Given the description of an element on the screen output the (x, y) to click on. 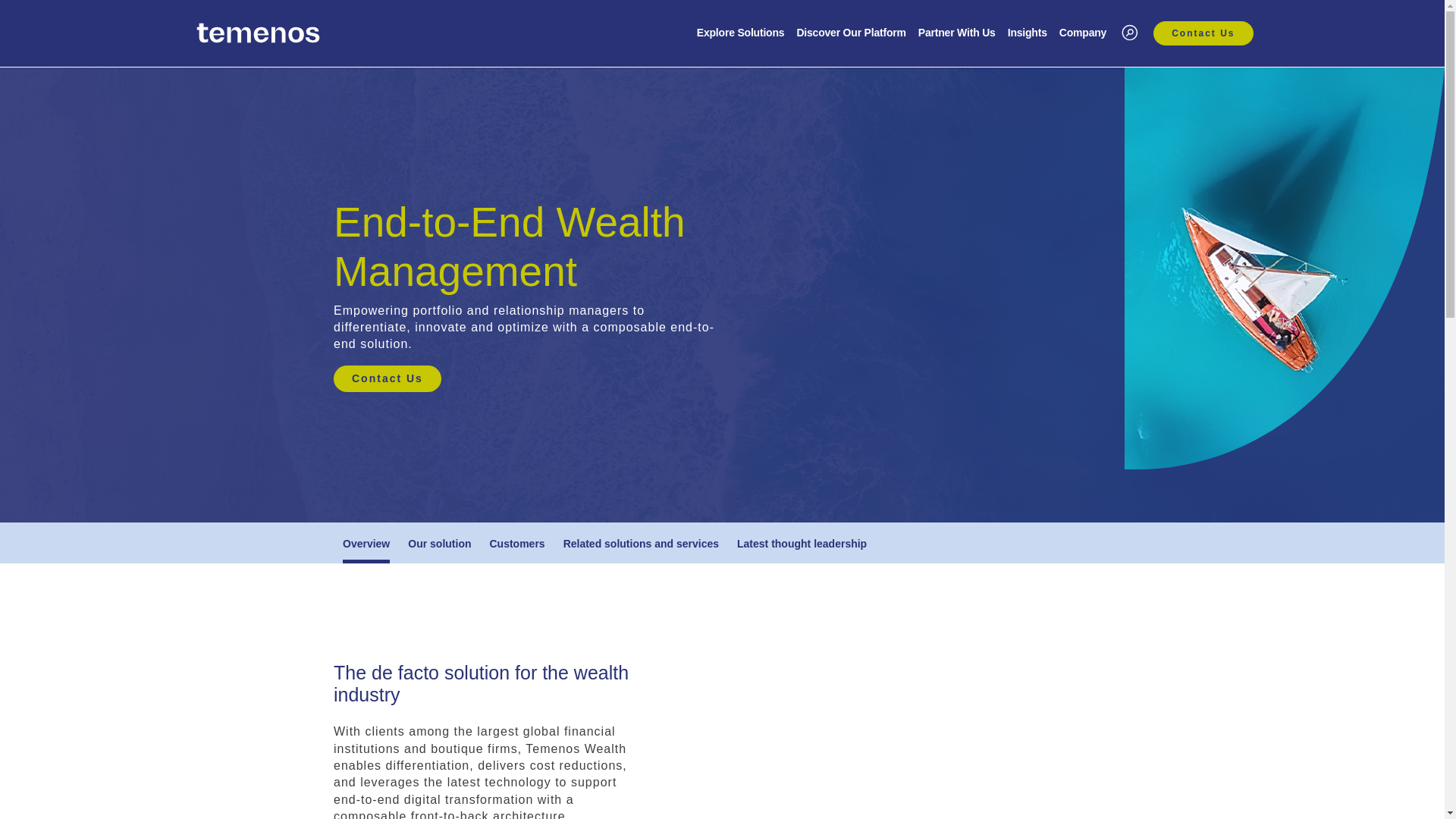
Temenos (257, 32)
Insights (1026, 34)
Temenos SolutionVideo Wealth (886, 721)
Explore Solutions (740, 34)
Partner With Us (956, 34)
Discover Our Platform (850, 34)
